Given the description of an element on the screen output the (x, y) to click on. 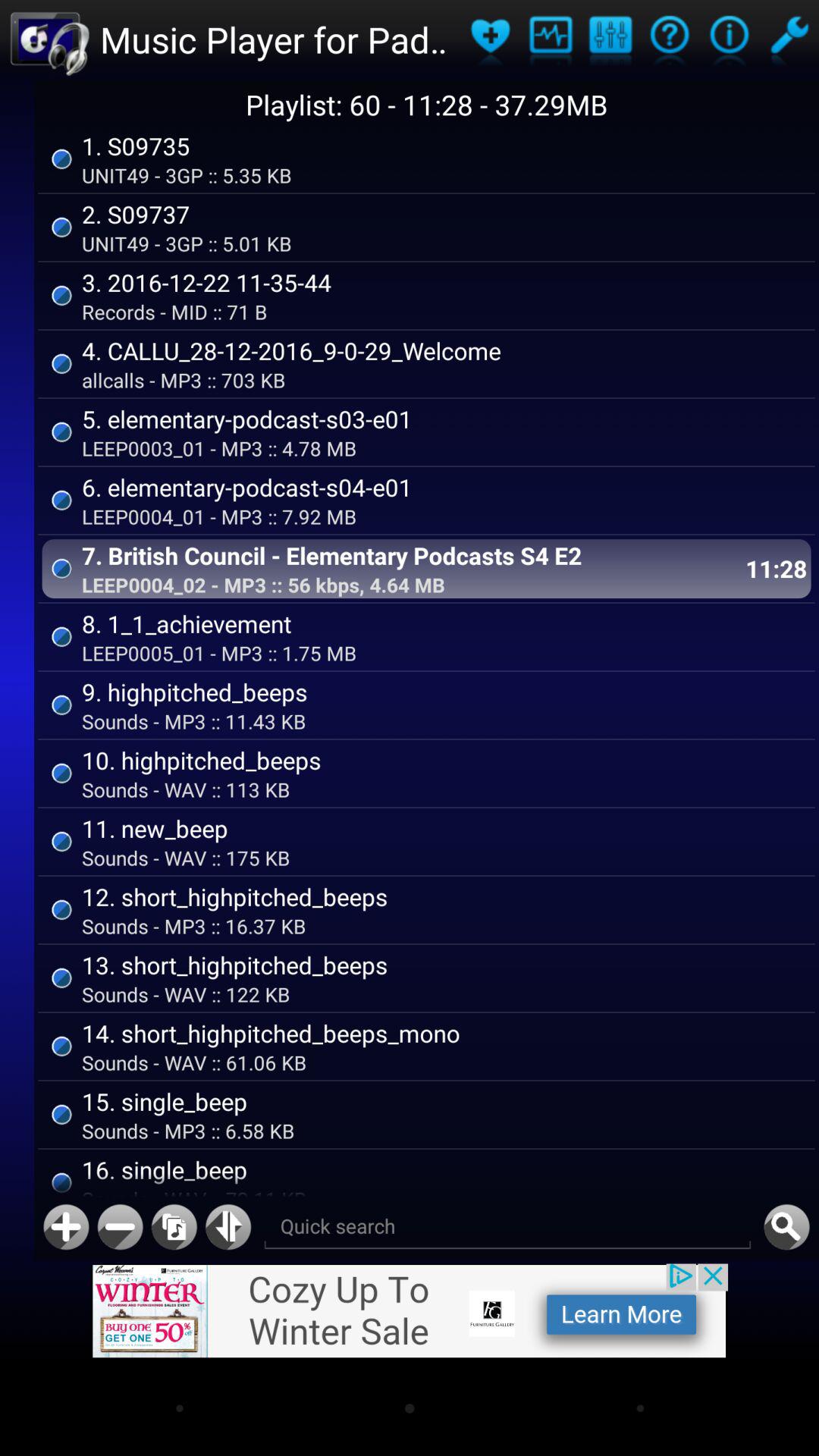
delete song from playlist (120, 1226)
